Given the description of an element on the screen output the (x, y) to click on. 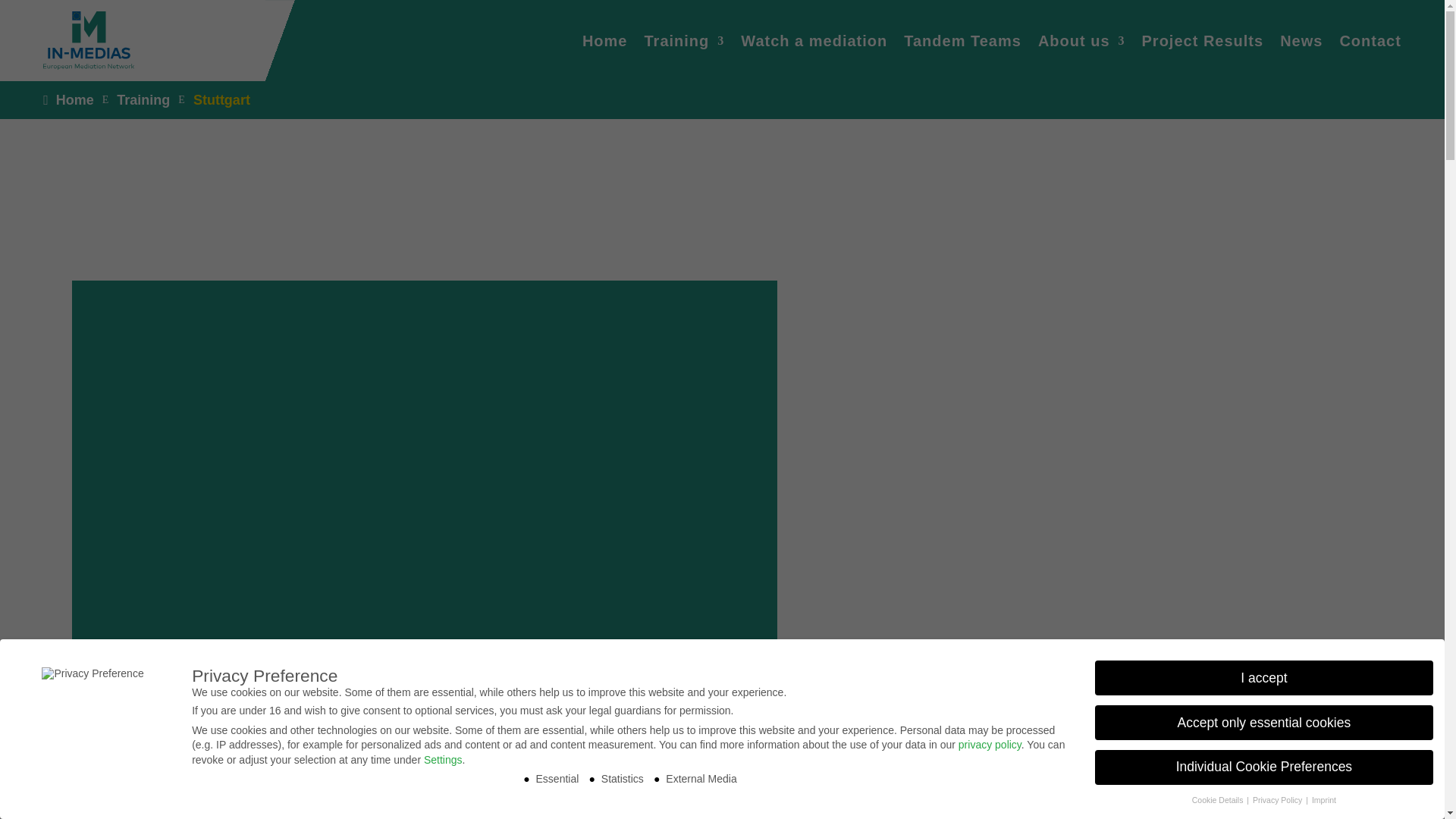
About us (1081, 40)
Project Results (1202, 40)
Training (683, 40)
Contact (1369, 40)
Home (68, 99)
Training (143, 99)
Tandem Teams (963, 40)
Watch a mediation (813, 40)
